Given the description of an element on the screen output the (x, y) to click on. 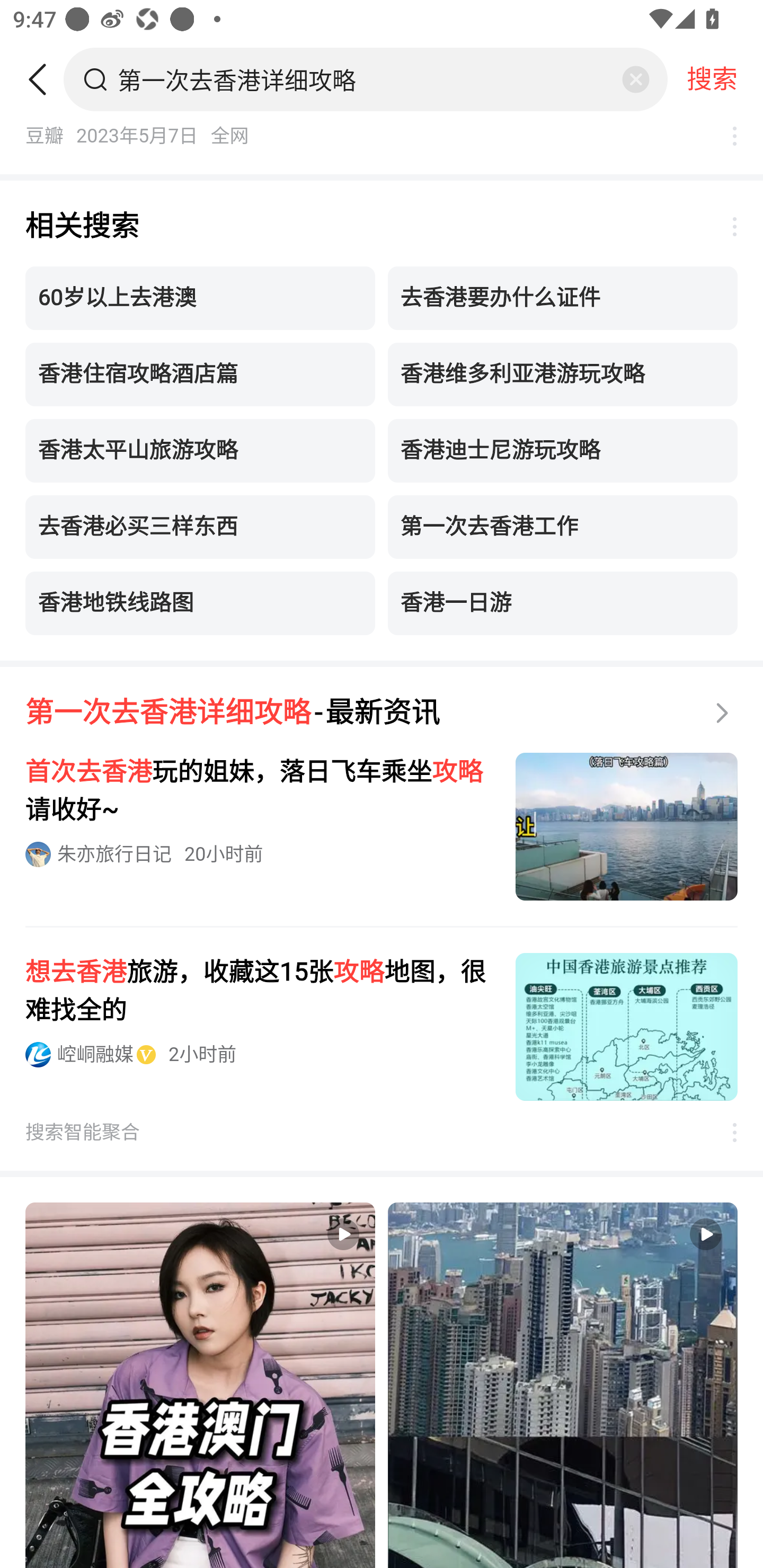
搜索框，第一次去香港详细攻略 (366, 79)
搜索 (711, 79)
返回 (44, 79)
清除 (635, 79)
